Given the description of an element on the screen output the (x, y) to click on. 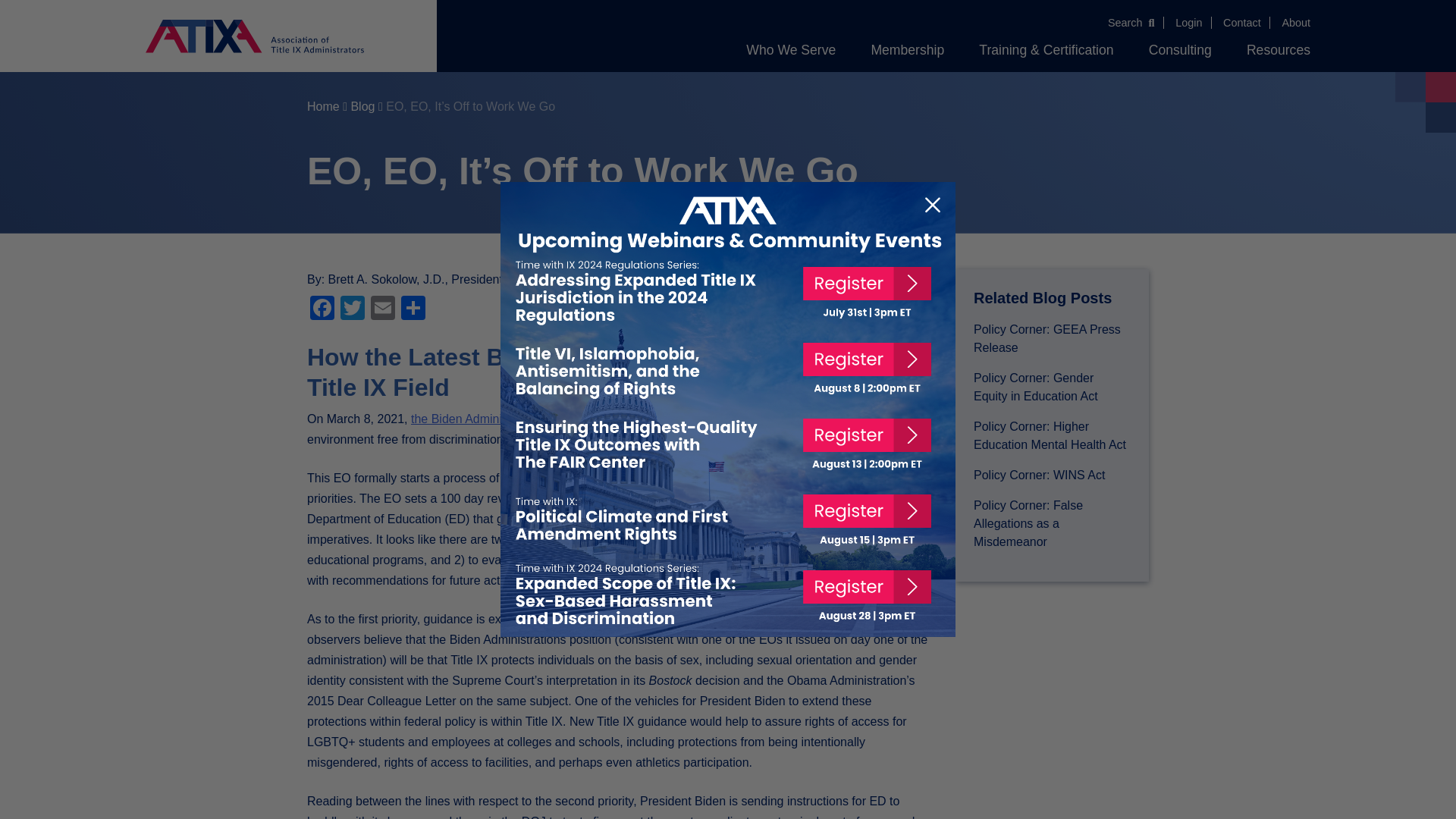
Login (1188, 22)
Membership (906, 49)
Search (1131, 22)
Twitter (352, 309)
About (1295, 22)
Facebook (322, 309)
Who We Serve (790, 49)
Email (382, 309)
Contact (1241, 22)
